Given the description of an element on the screen output the (x, y) to click on. 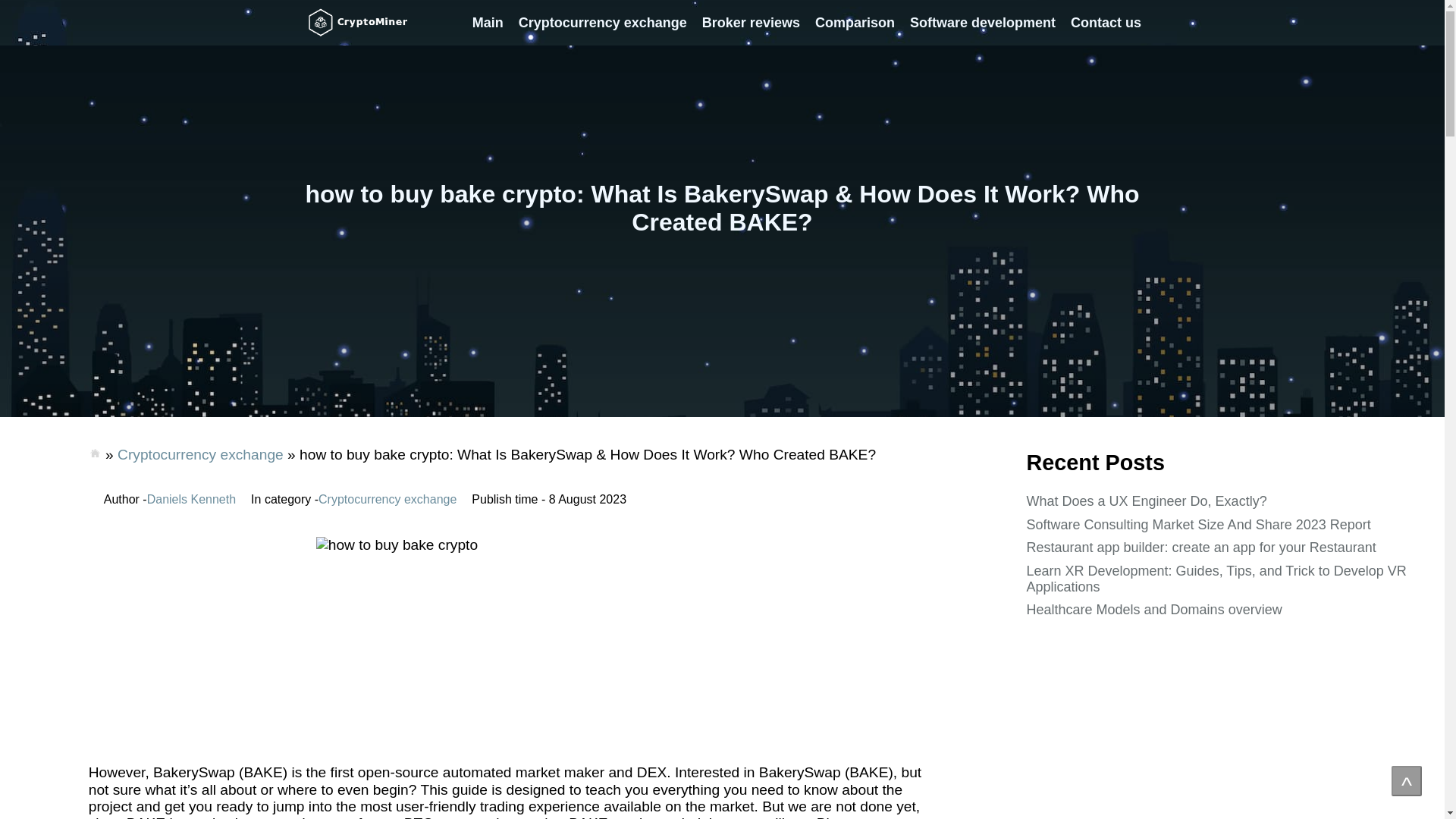
Main (487, 22)
Go to top (1406, 780)
Contact us (1105, 22)
Software development (982, 22)
Daniels Kenneth (191, 499)
Comparison (855, 22)
Broker reviews (751, 22)
Cryptocurrency exchange (200, 454)
Cryptocurrency exchange (387, 499)
Cryptocurrency exchange (602, 22)
